Given the description of an element on the screen output the (x, y) to click on. 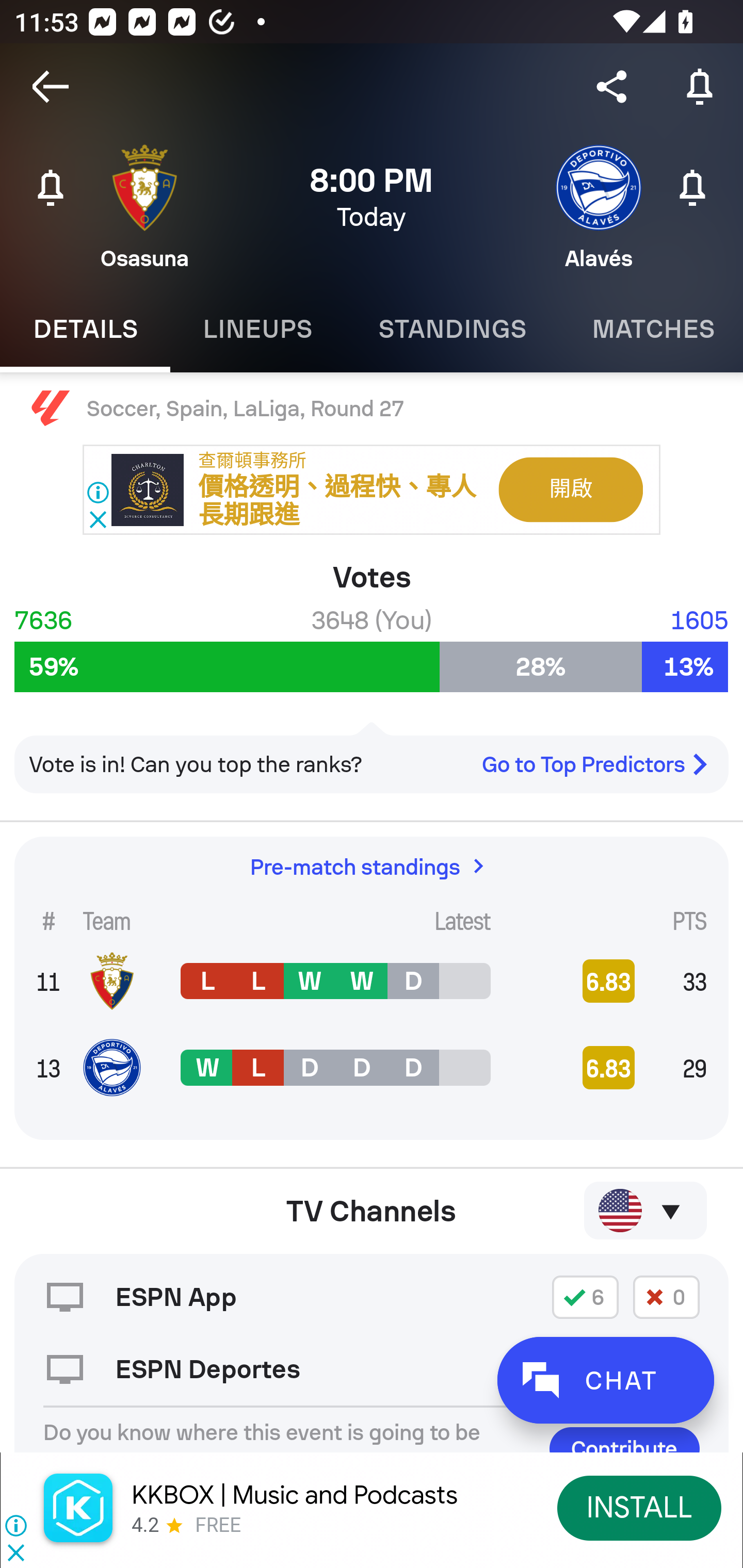
Navigate up (50, 86)
Lineups LINEUPS (257, 329)
Standings STANDINGS (451, 329)
Matches MATCHES (650, 329)
Soccer, Spain, LaLiga, Round 27 (371, 409)
Go to Top Predictors (601, 764)
6 (585, 1296)
0 (666, 1296)
CHAT (605, 1380)
INSTALL (639, 1507)
KKBOX | Music and Podcasts (294, 1494)
